Given the description of an element on the screen output the (x, y) to click on. 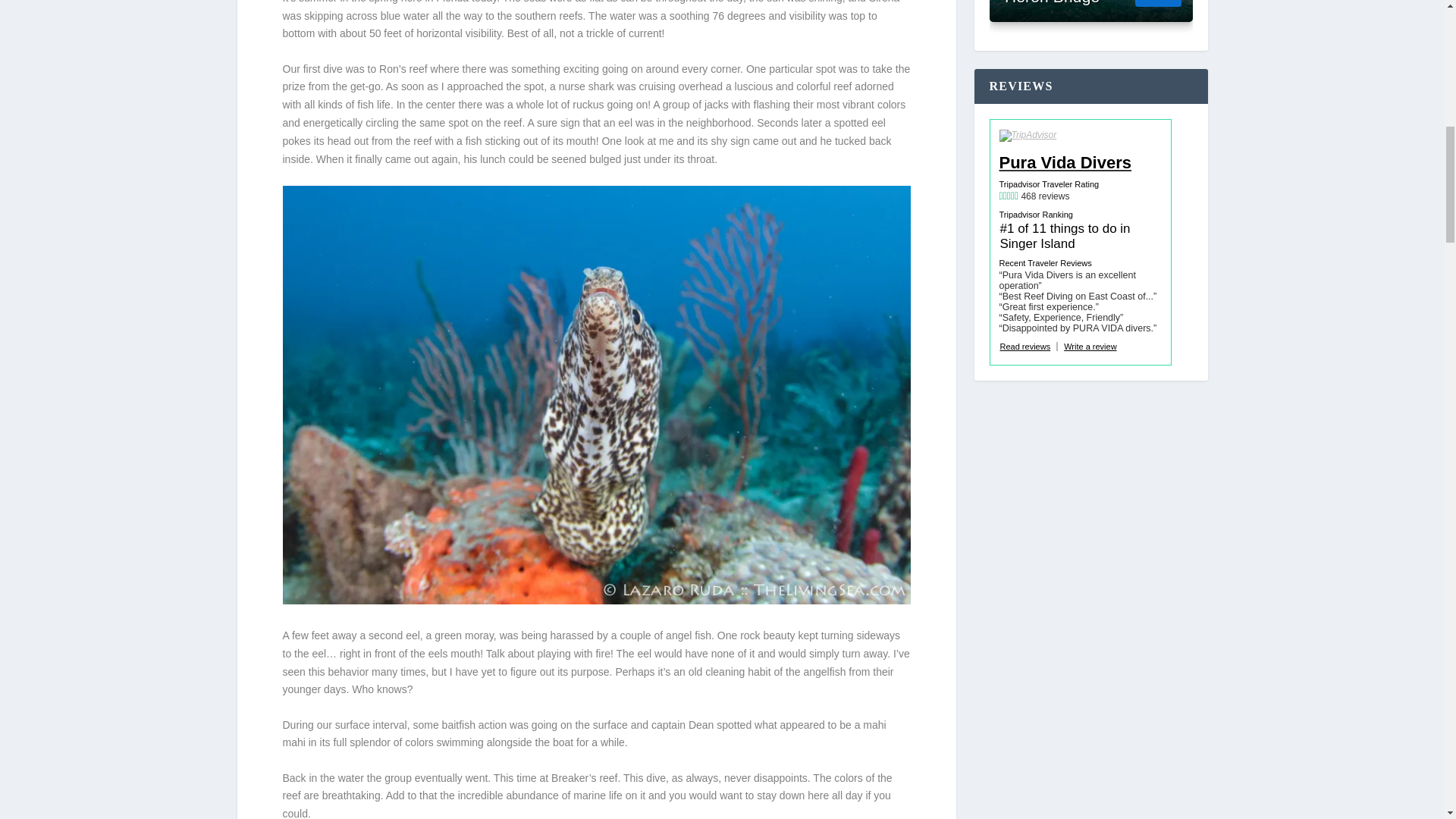
FareHarbor (1342, 64)
